Given the description of an element on the screen output the (x, y) to click on. 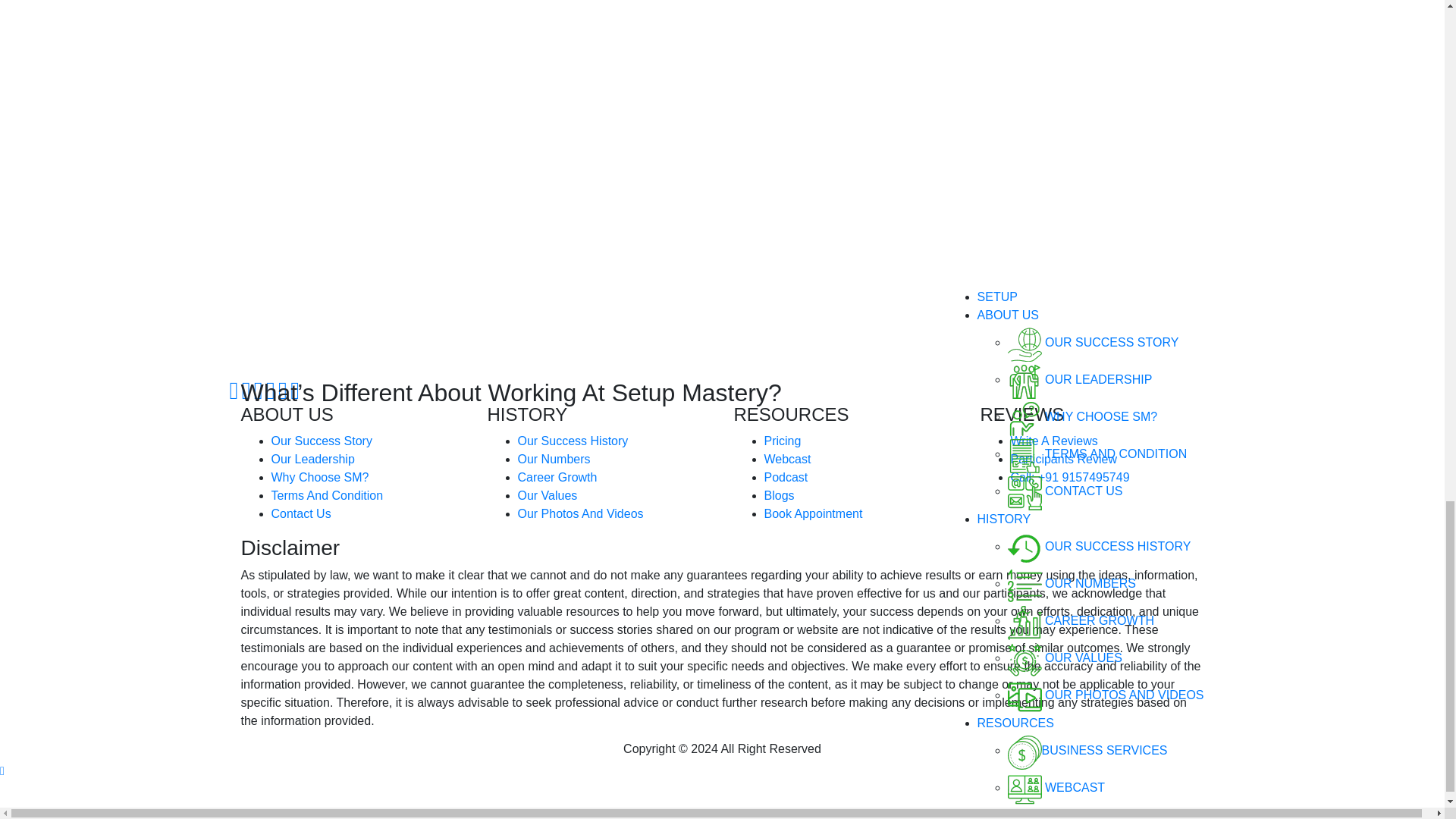
Terms And Condition (327, 495)
Our Success Story (321, 440)
Our Success History (571, 440)
Career Growth (556, 477)
Our Values (546, 495)
Pricing (783, 440)
Why Choose SM? (319, 477)
Contact Us (300, 513)
Our Photos And Videos (579, 513)
Our Leadership (312, 459)
Our Numbers (552, 459)
